Given the description of an element on the screen output the (x, y) to click on. 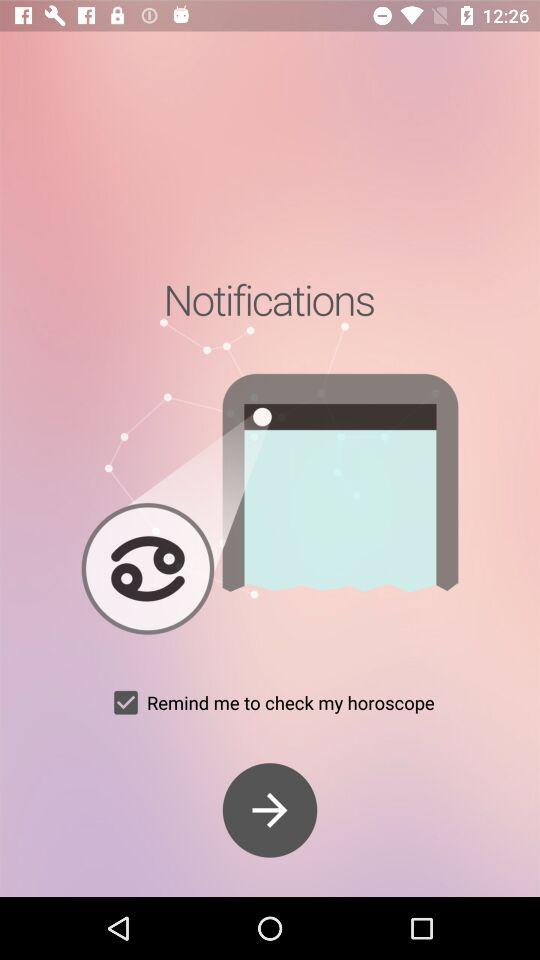
proceed (269, 810)
